Given the description of an element on the screen output the (x, y) to click on. 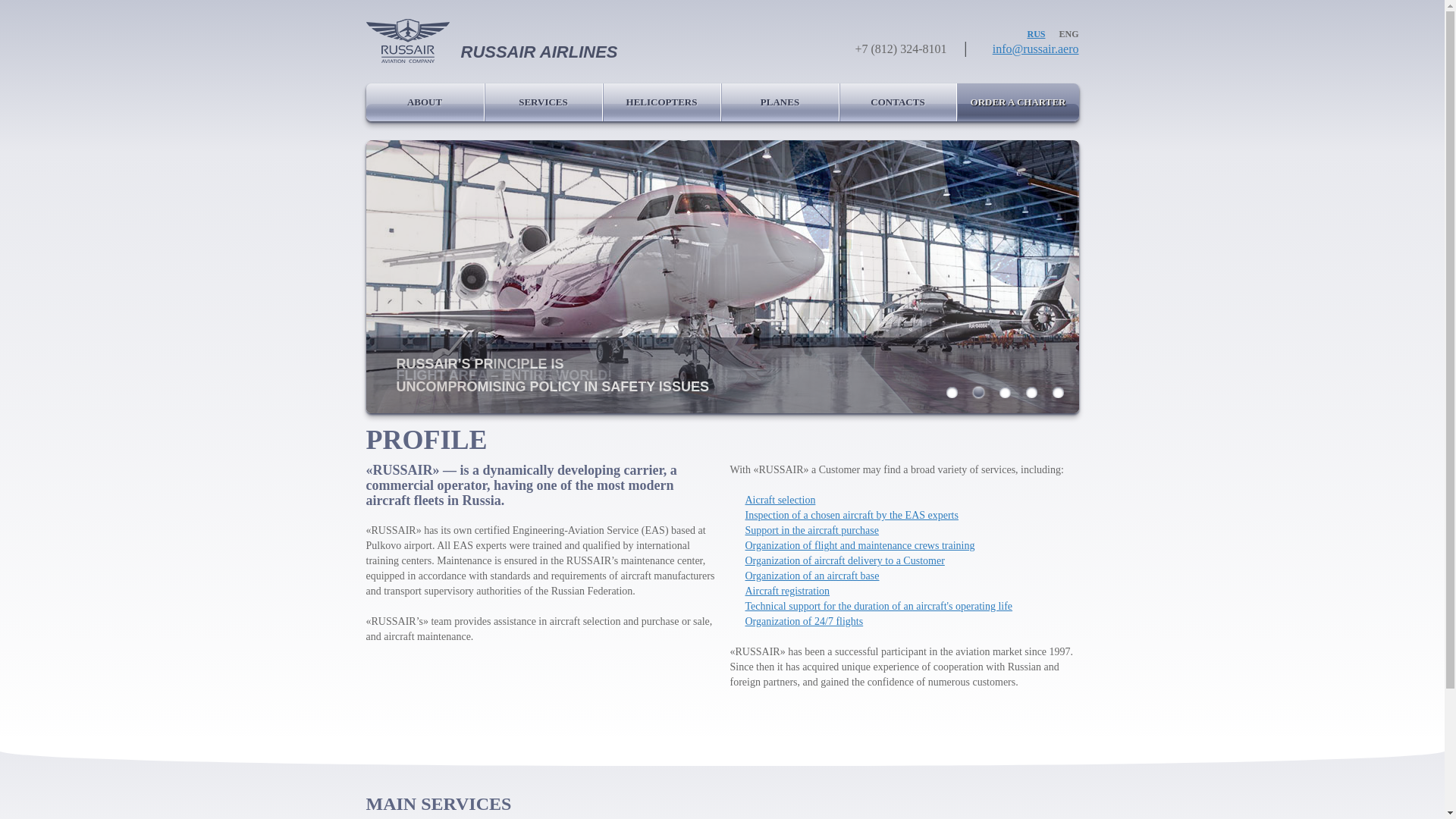
Organization of flight and maintenance crews training (859, 545)
Inspection of a chosen aircraft by the EAS experts (851, 514)
Aicraft selection (779, 500)
ABOUT (424, 102)
RUSSAIR AIRLINES (600, 41)
Support in the aircraft purchase (811, 530)
Aircraft registration (786, 591)
HELICOPTERS (662, 102)
Organization of an aircraft base (811, 575)
PLANES (781, 102)
ORDER A CHARTER (1017, 102)
CONTACTS (898, 102)
SERVICES (543, 102)
RUS (1035, 33)
